Given the description of an element on the screen output the (x, y) to click on. 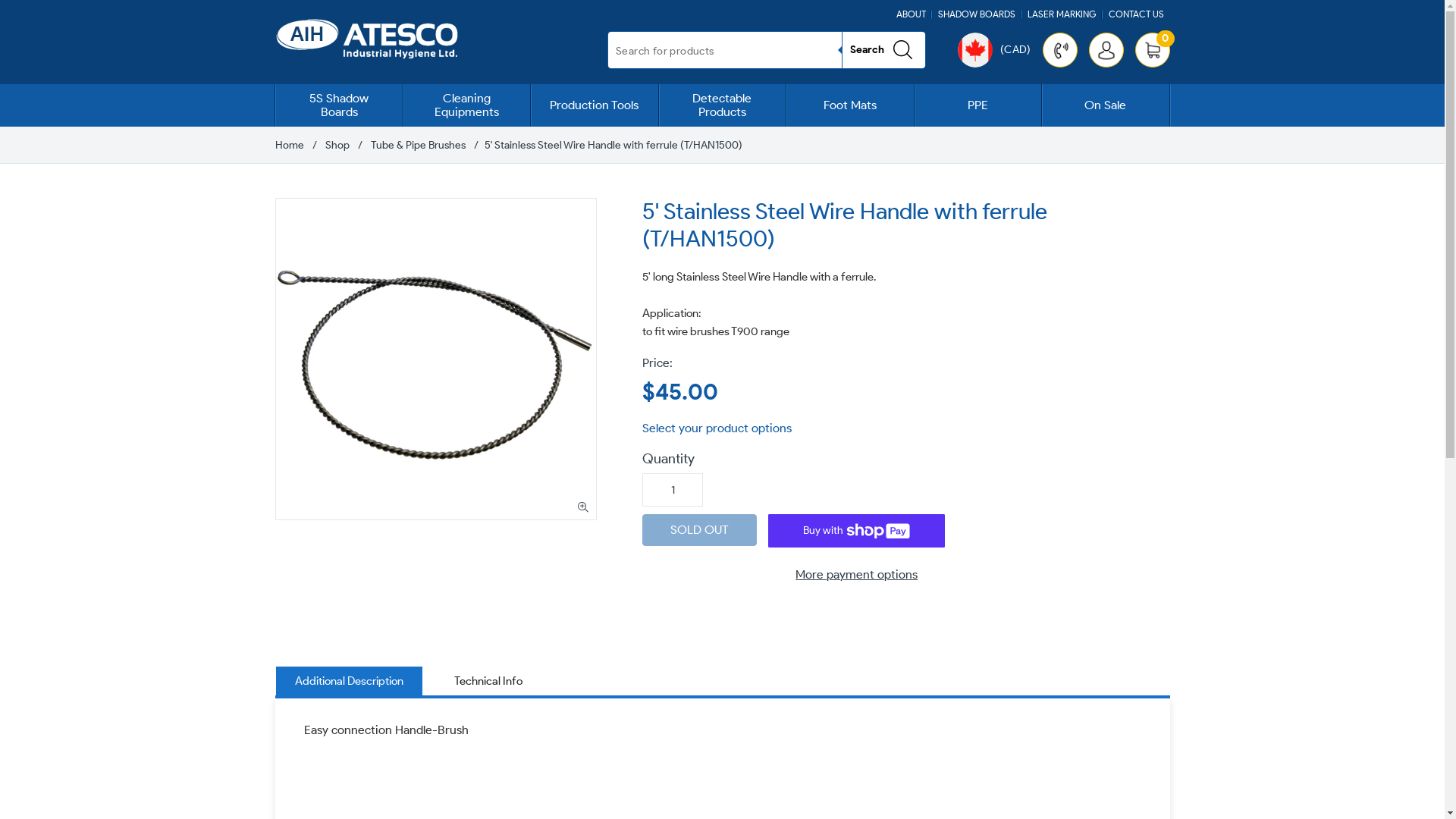
CONTACT US Element type: text (1136, 14)
Foot Mats Element type: text (849, 105)
LASER MARKING Element type: text (1060, 14)
On Sale Element type: text (1104, 105)
Detectable Products Element type: text (721, 105)
Search Element type: text (883, 49)
More payment options Element type: text (856, 574)
Cleaning Equipments Element type: text (466, 105)
ABOUT Element type: text (910, 14)
Cart
0 Element type: text (1151, 49)
Technical Info Element type: text (488, 680)
5S Shadow Boards Element type: text (339, 105)
Home Element type: text (288, 145)
Production Tools Element type: text (593, 105)
Additional Description Element type: text (349, 680)
Shop Element type: text (336, 145)
SHADOW BOARDS Element type: text (975, 14)
Tube & Pipe Brushes Element type: text (417, 145)
SOLD OUT Element type: text (699, 530)
PPE Element type: text (977, 105)
